Given the description of an element on the screen output the (x, y) to click on. 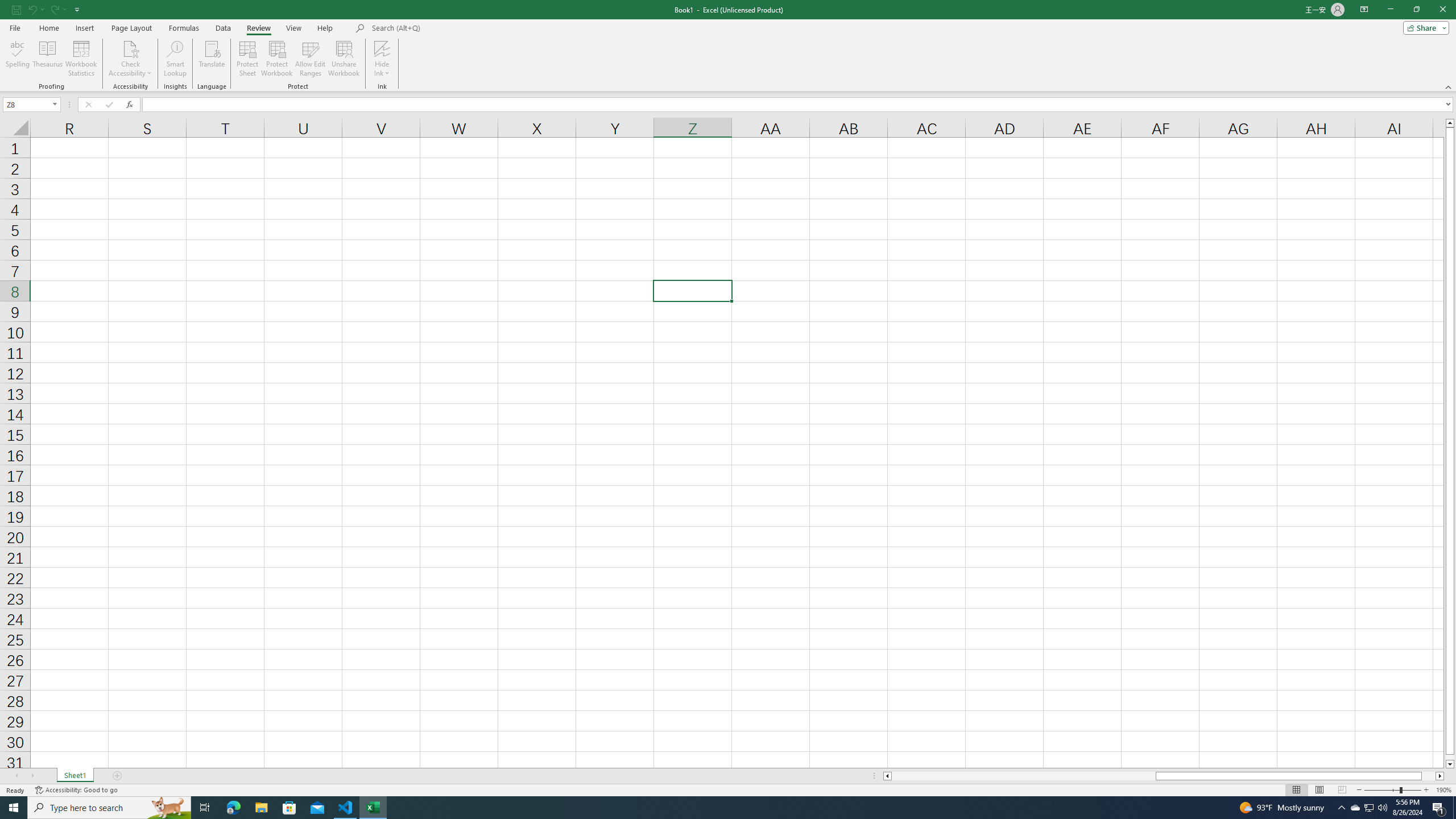
Unshare Workbook (344, 58)
Column left (886, 775)
Accessibility Checker Accessibility: Good to go (76, 790)
Zoom In (1426, 790)
Ribbon Display Options (1364, 9)
Spelling... (17, 58)
Formulas (184, 28)
Workbook Statistics (81, 58)
Customize Quick Access Toolbar (77, 9)
Share (1423, 27)
Hide Ink (381, 48)
Data (223, 28)
